Given the description of an element on the screen output the (x, y) to click on. 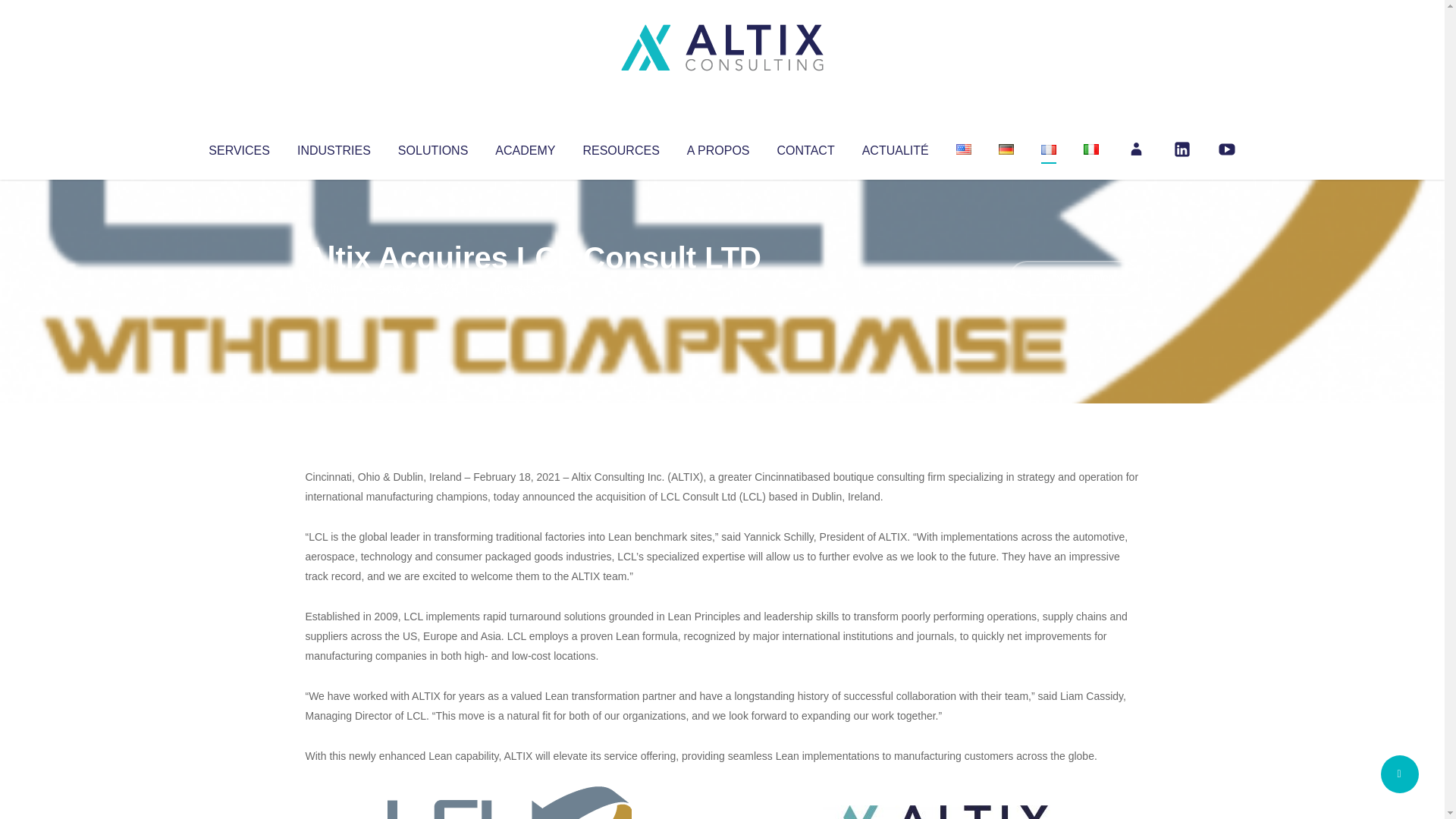
Articles par Altix (333, 287)
Uncategorized (530, 287)
RESOURCES (620, 146)
SERVICES (238, 146)
Altix (333, 287)
No Comments (1073, 278)
A PROPOS (718, 146)
ACADEMY (524, 146)
INDUSTRIES (334, 146)
SOLUTIONS (432, 146)
